Given the description of an element on the screen output the (x, y) to click on. 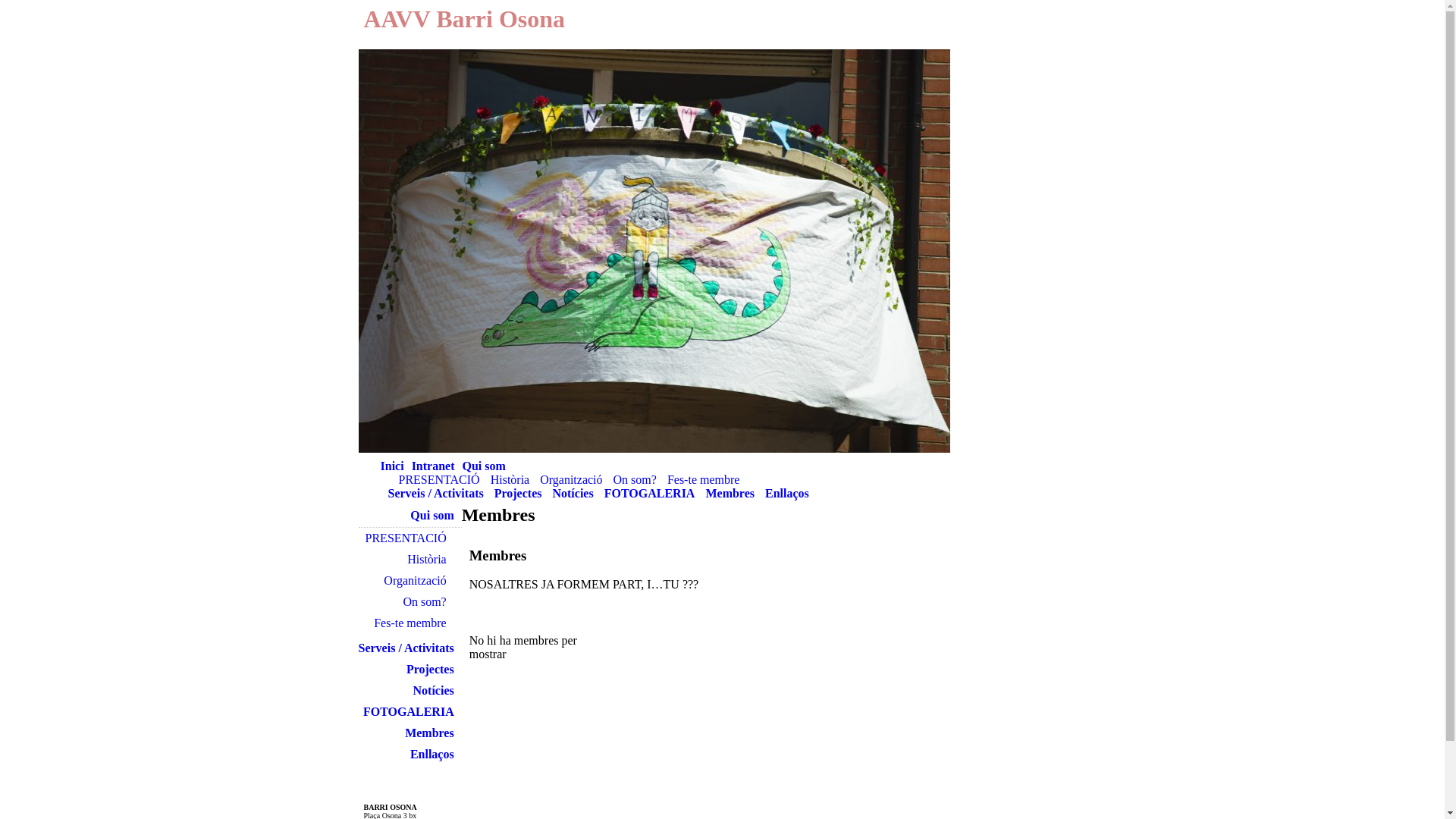
Projectes Element type: text (518, 492)
On som? Element type: text (427, 601)
FOTOGALERIA Element type: text (649, 492)
Fes-te membre Element type: text (413, 622)
Membres Element type: text (729, 492)
Inici Element type: text (392, 465)
Projectes Element type: text (433, 668)
FOTOGALERIA Element type: text (412, 711)
Serveis / Activitats Element type: text (409, 647)
On som? Element type: text (634, 479)
Qui som Element type: text (435, 514)
Fes-te membre Element type: text (703, 479)
Qui som Element type: text (483, 465)
Intranet Element type: text (433, 465)
Membres Element type: text (432, 732)
Serveis / Activitats Element type: text (435, 492)
AAVV Barri Osona Element type: text (464, 18)
